Given the description of an element on the screen output the (x, y) to click on. 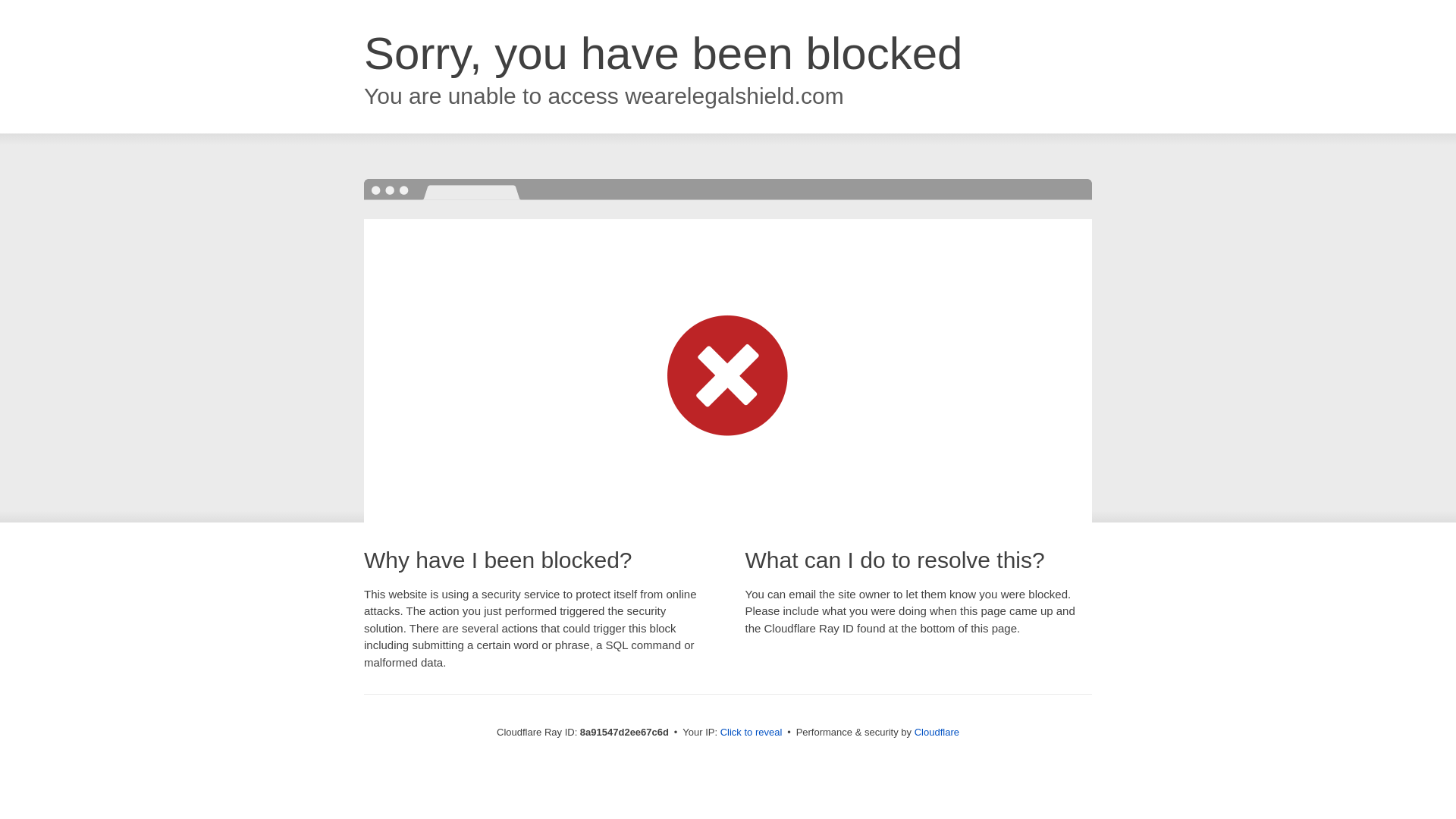
Cloudflare (936, 731)
Click to reveal (751, 732)
